Given the description of an element on the screen output the (x, y) to click on. 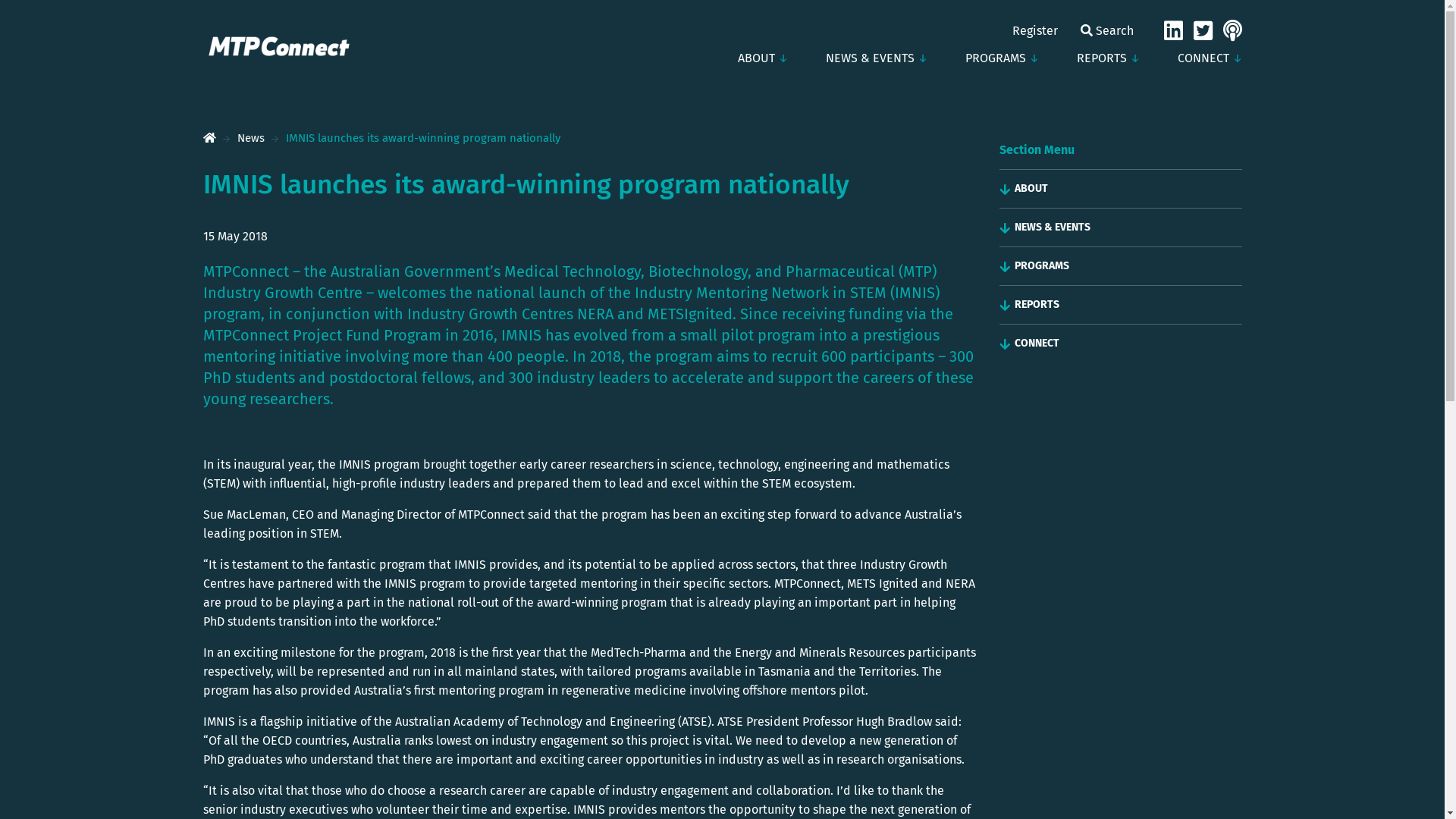
NEWS & EVENTS Element type: text (1128, 227)
IMNIS launches its award-winning program nationally Element type: text (422, 137)
REPORTS Element type: text (1128, 304)
Industry Mentoring Network in STEM Element type: text (759, 292)
NEWS & EVENTS Element type: text (876, 58)
CONNECT Element type: text (1128, 343)
REPORTS Element type: text (1107, 58)
CONNECT Element type: text (1204, 58)
Register Element type: text (1034, 30)
ABOUT Element type: text (1128, 188)
PROGRAMS Element type: text (1128, 265)
PROGRAMS Element type: text (1001, 58)
News Element type: text (249, 137)
ABOUT Element type: text (762, 58)
Search Element type: text (1105, 30)
